Given the description of an element on the screen output the (x, y) to click on. 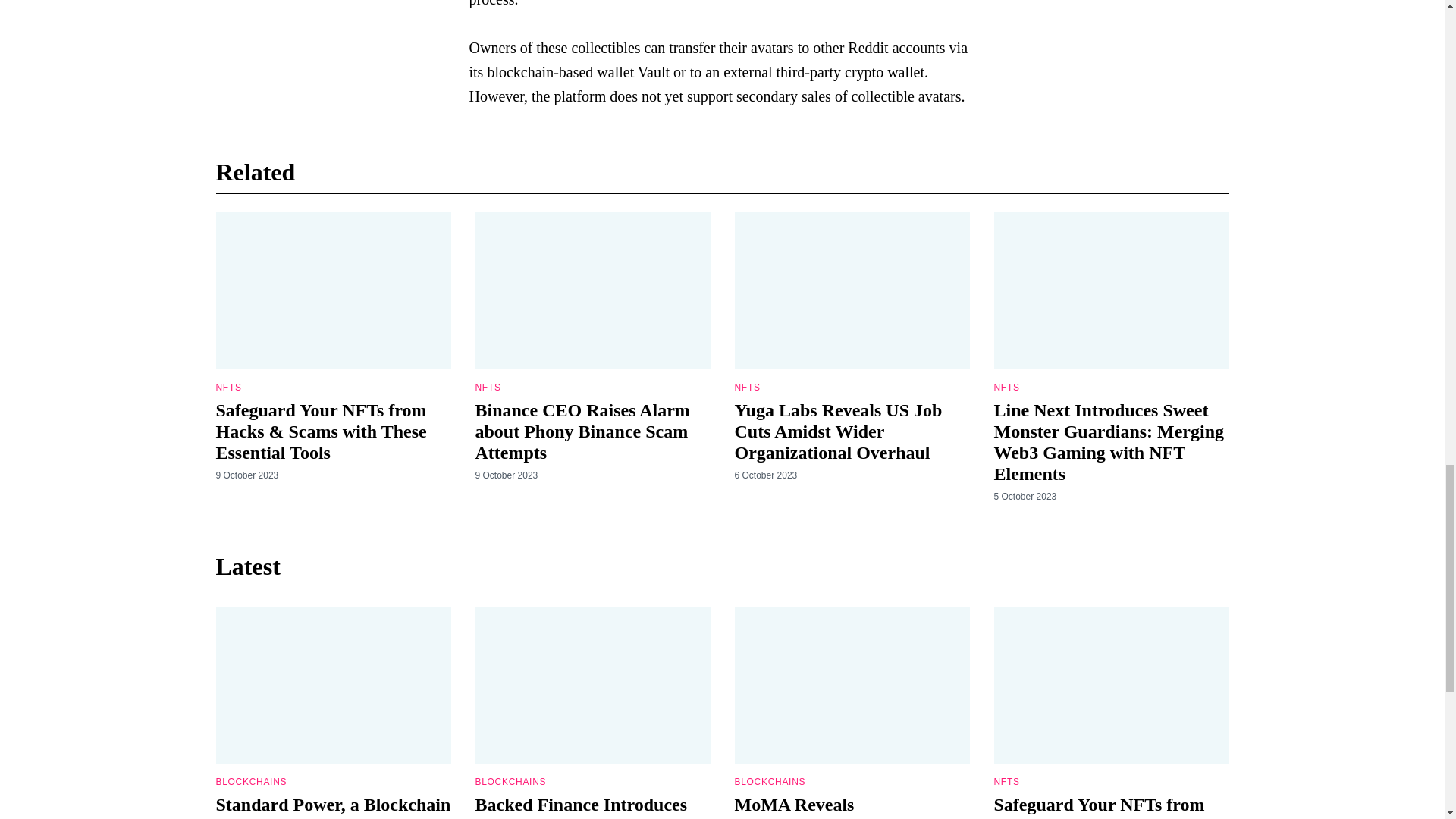
NFTS (746, 387)
Binance CEO Raises Alarm about Phony Binance Scam Attempts (581, 431)
NFTS (228, 387)
NFTS (487, 387)
